Given the description of an element on the screen output the (x, y) to click on. 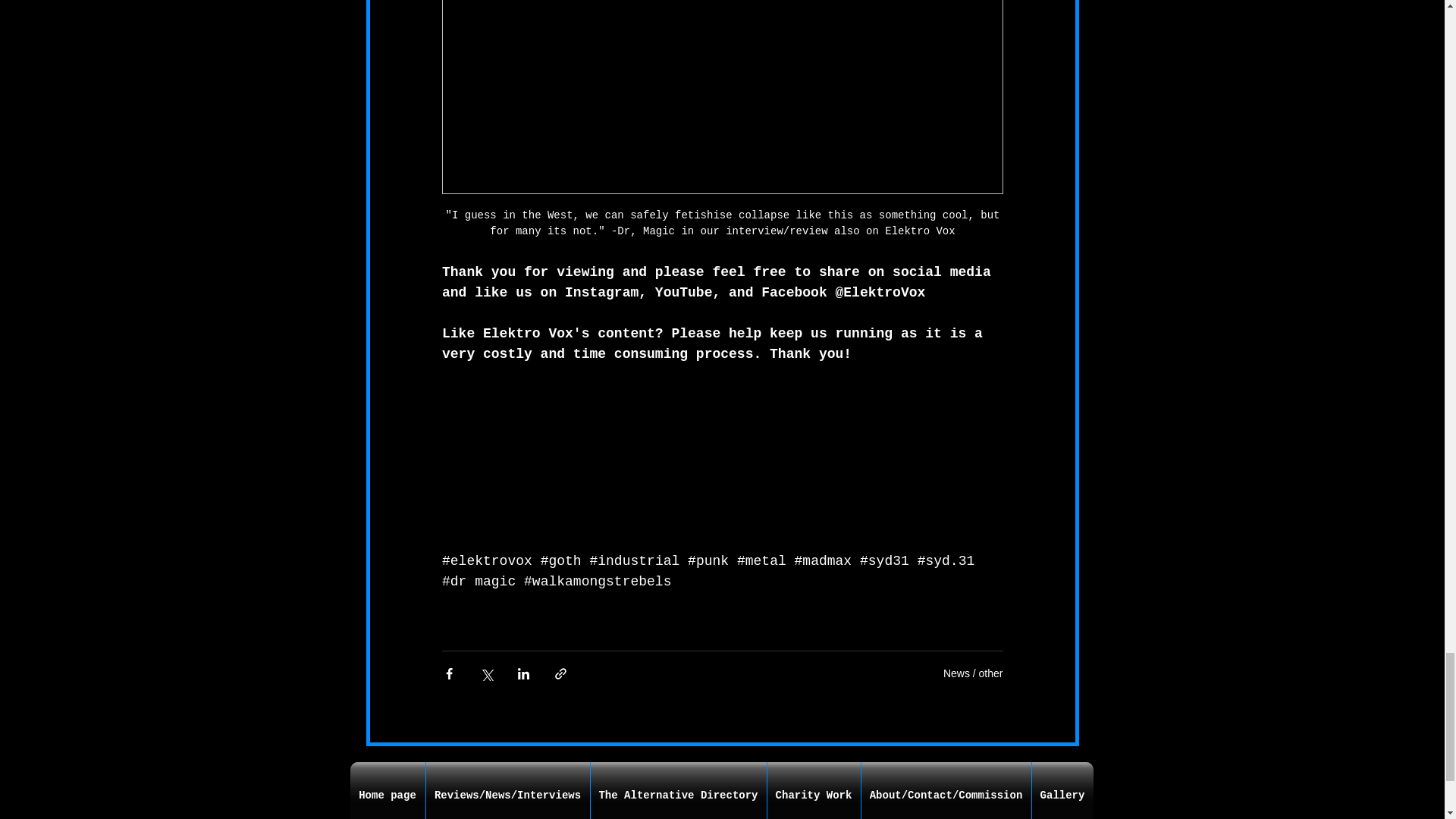
ElektroVox (883, 292)
